Given the description of an element on the screen output the (x, y) to click on. 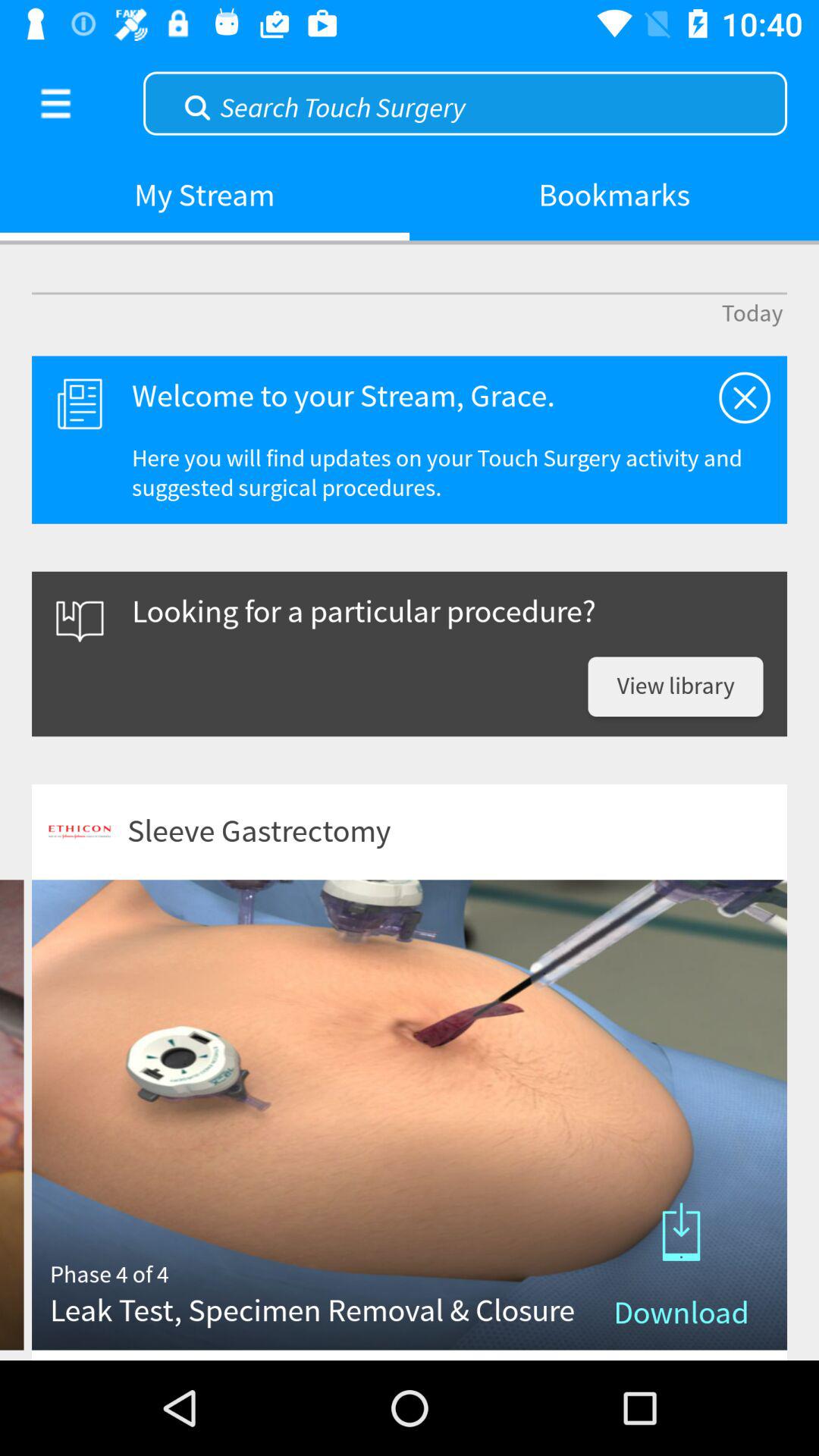
remove message from my stream (744, 397)
